Given the description of an element on the screen output the (x, y) to click on. 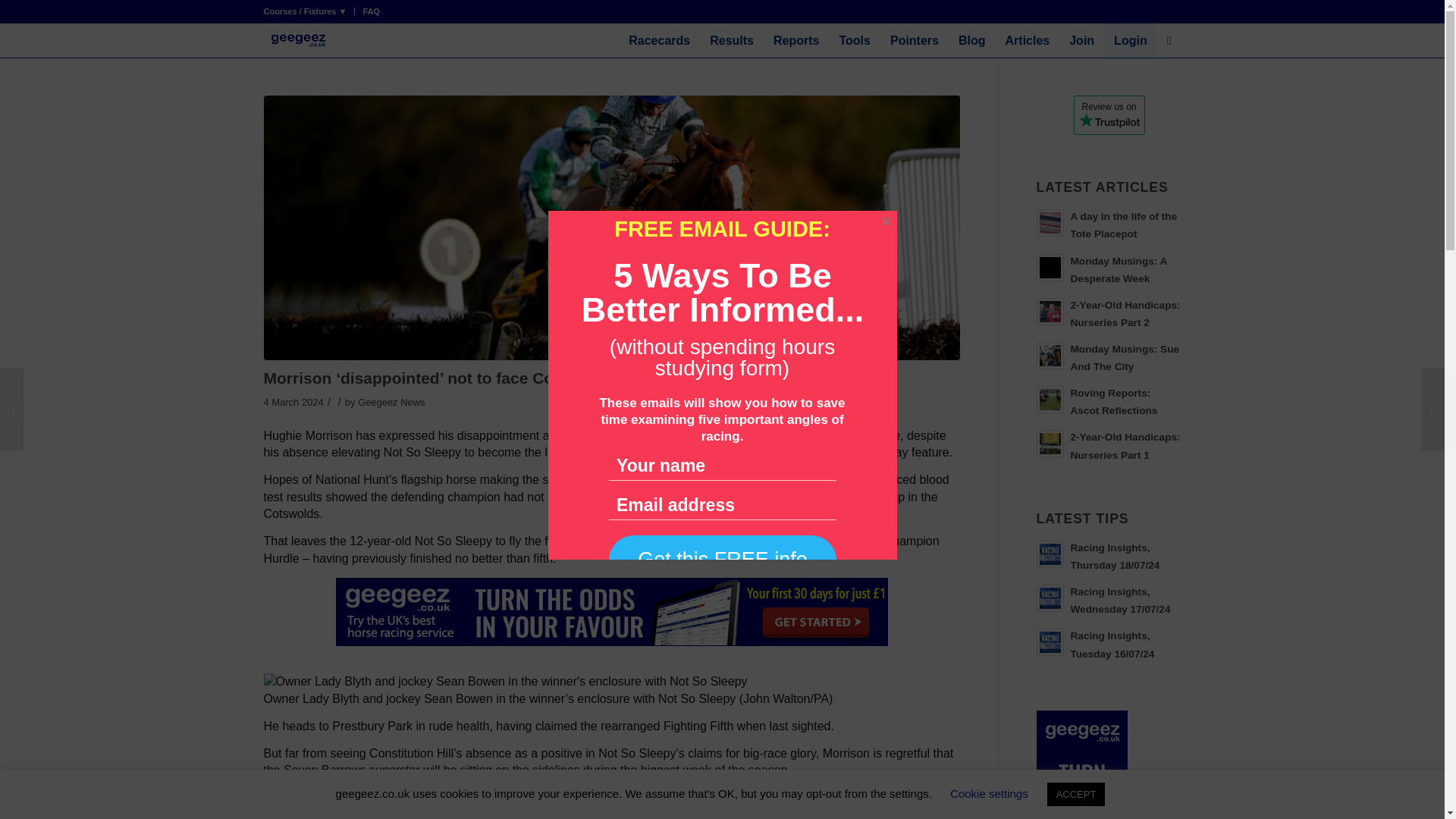
Racecards (659, 40)
Login (1130, 40)
Reports (795, 40)
Posts by Geegeez News (391, 401)
Tools (853, 40)
Blog (972, 40)
Articles (1027, 40)
Results (731, 40)
Login (1130, 40)
Pointers (914, 40)
Join (1081, 40)
